Given the description of an element on the screen output the (x, y) to click on. 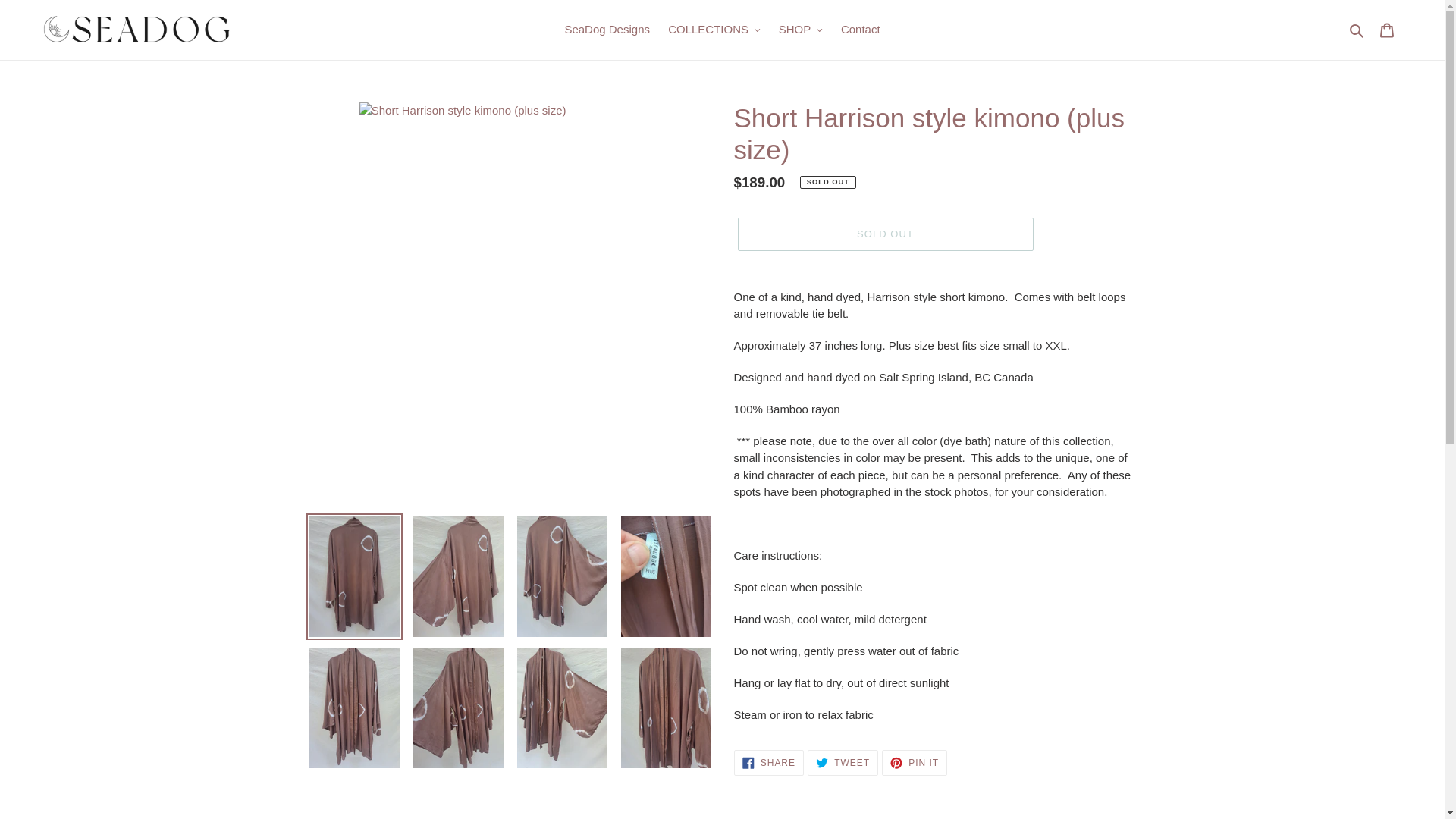
SeaDog Designs (607, 29)
Contact (860, 29)
COLLECTIONS (714, 29)
Search (1357, 29)
SHOP (800, 29)
Cart (1387, 29)
